Given the description of an element on the screen output the (x, y) to click on. 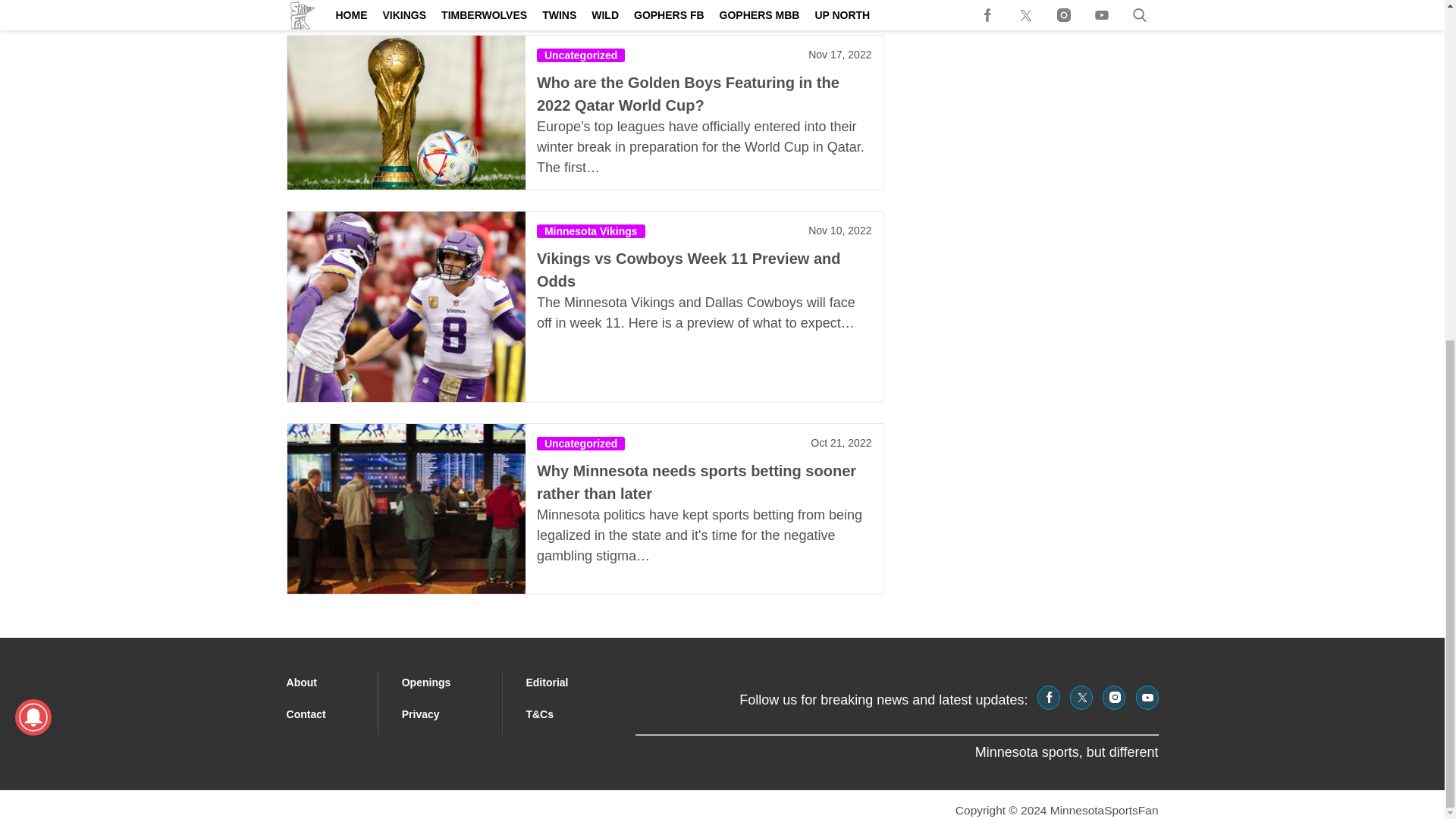
Subscribe to our YouTube channel (1146, 697)
Follow us on Instagram (1113, 697)
Photo: Geoff Burke - USA TODAY Sports (405, 306)
Why Minnesota needs sports betting sooner rather than later (405, 508)
Follow us on Facebook (1047, 697)
About (301, 682)
Uncategorized (580, 55)
AP Photo (405, 508)
Photo: Scott Taetsch - Getty Images (405, 6)
Vikings vs Cowboys Week 11 Preview and Odds (405, 306)
Privacy (420, 714)
Openings (426, 682)
Vikings vs Cowboys Week 11 Preview and Odds (689, 269)
